Given the description of an element on the screen output the (x, y) to click on. 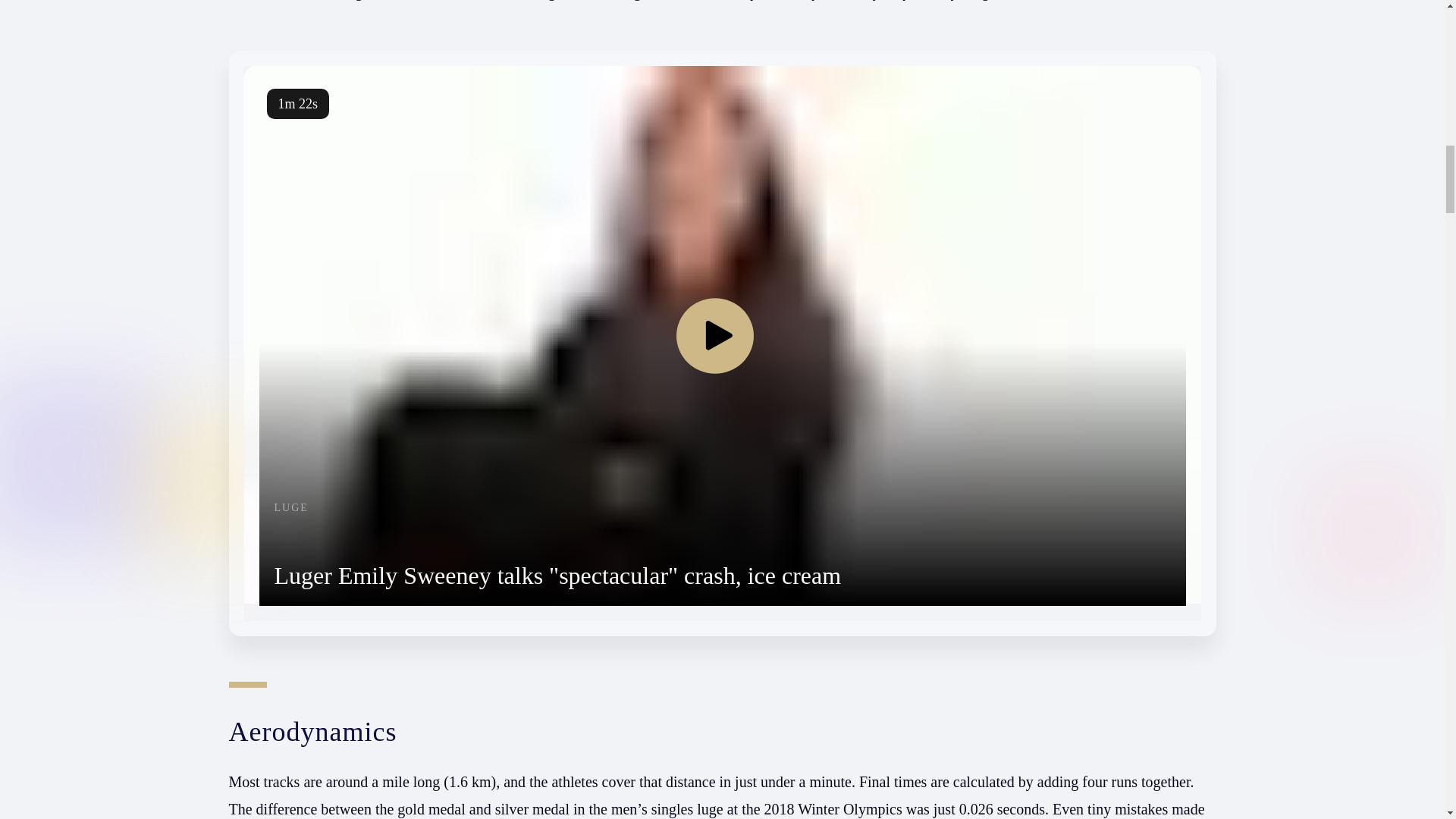
Luger Emily Sweeney talks "spectacular" crash, ice cream (558, 574)
LUGE (558, 508)
